Given the description of an element on the screen output the (x, y) to click on. 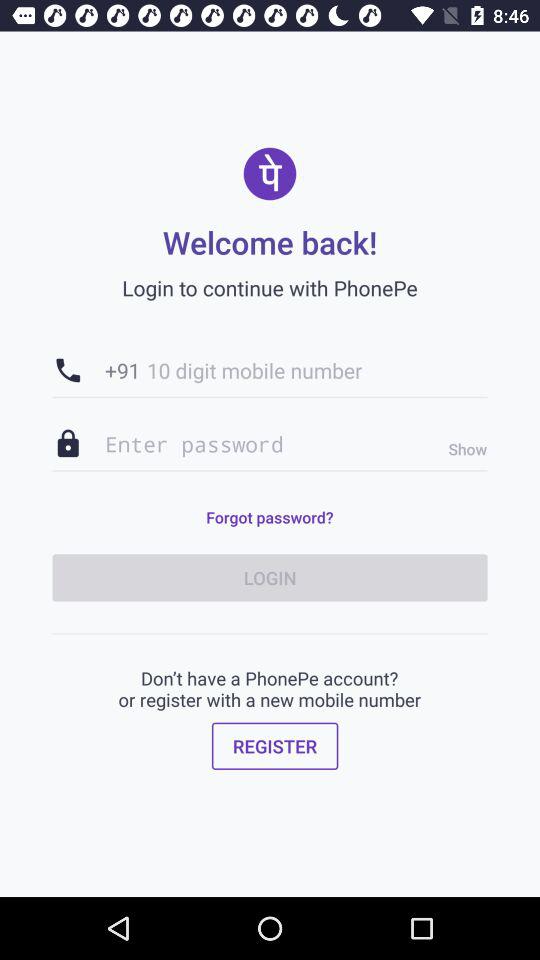
launch the item below login to continue (269, 370)
